Given the description of an element on the screen output the (x, y) to click on. 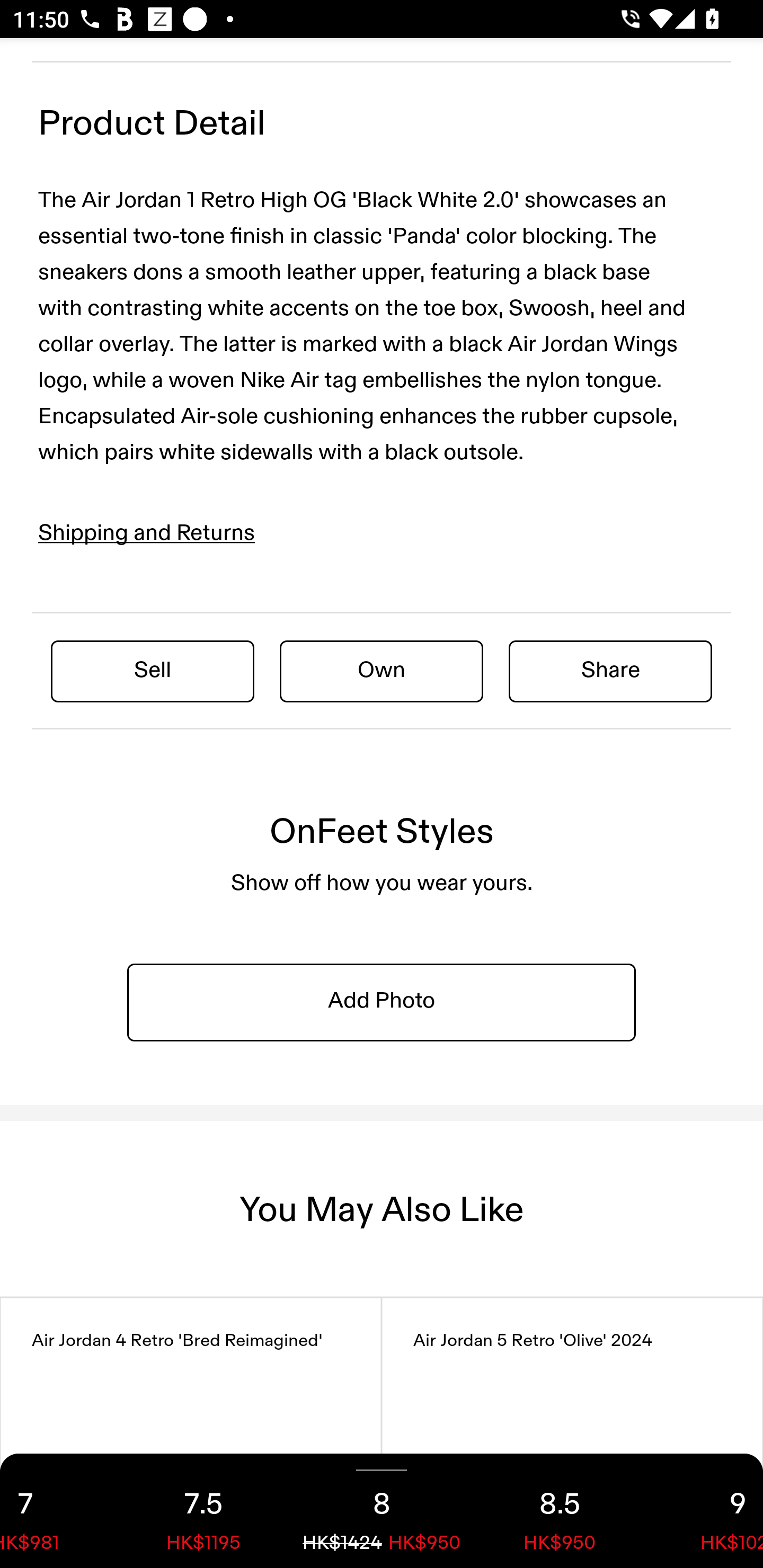
Shipping and Returns (146, 532)
Sell (152, 670)
Own (381, 670)
Share (609, 670)
Add Photo (381, 1001)
Air Jordan 4 Retro 'Bred Reimagined' (190, 1432)
Air Jordan 5 Retro 'Olive' 2024 (572, 1432)
7 HK$981 (57, 1510)
7.5 HK$1195 (203, 1510)
8 HK$1424 HK$950 (381, 1510)
8.5 HK$950 (559, 1510)
9 HK$1021 (705, 1510)
